Given the description of an element on the screen output the (x, y) to click on. 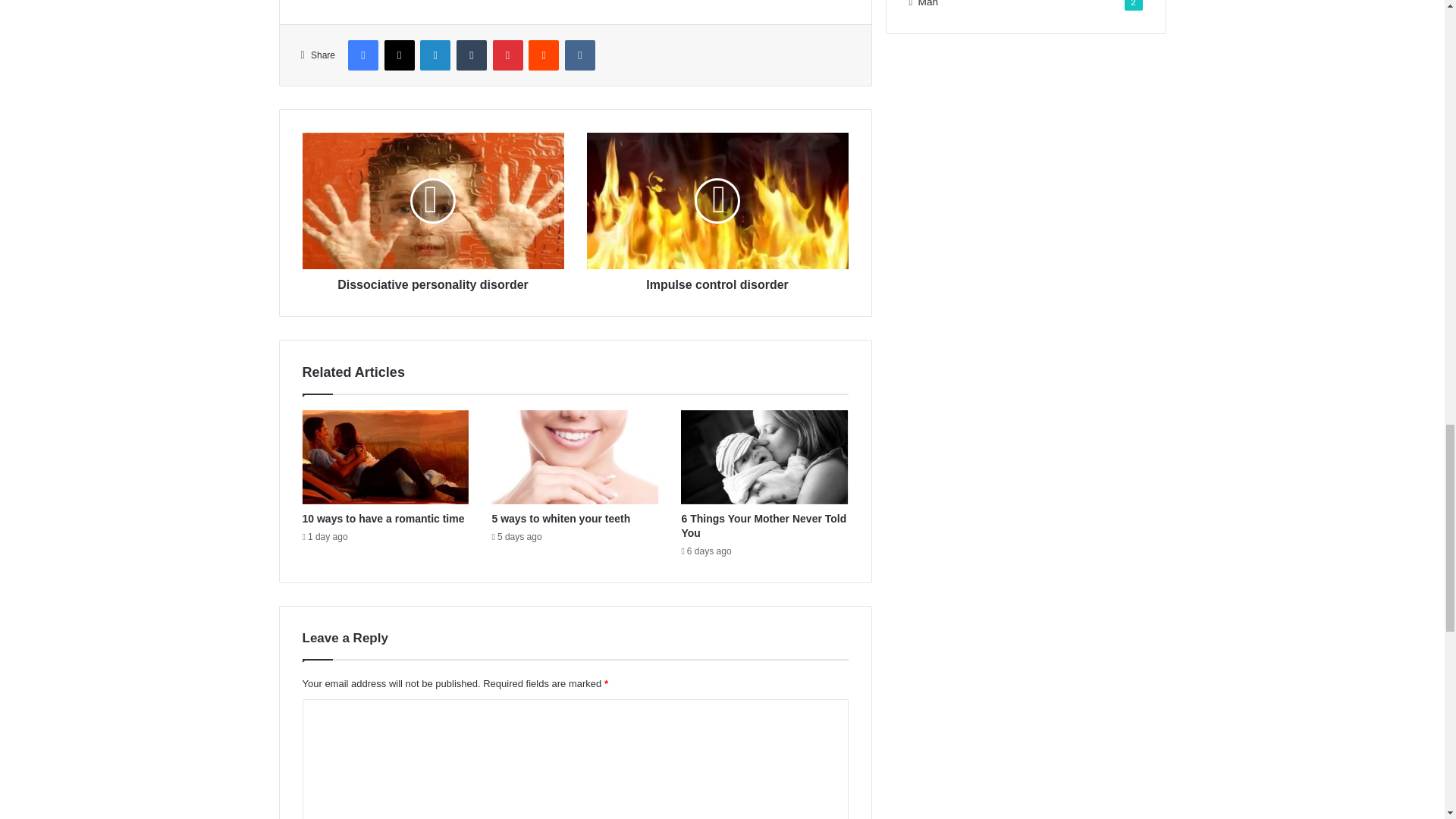
Tumblr (471, 55)
X (399, 55)
X (399, 55)
LinkedIn (434, 55)
Facebook (362, 55)
Pinterest (507, 55)
Reddit (543, 55)
Facebook (362, 55)
